Given the description of an element on the screen output the (x, y) to click on. 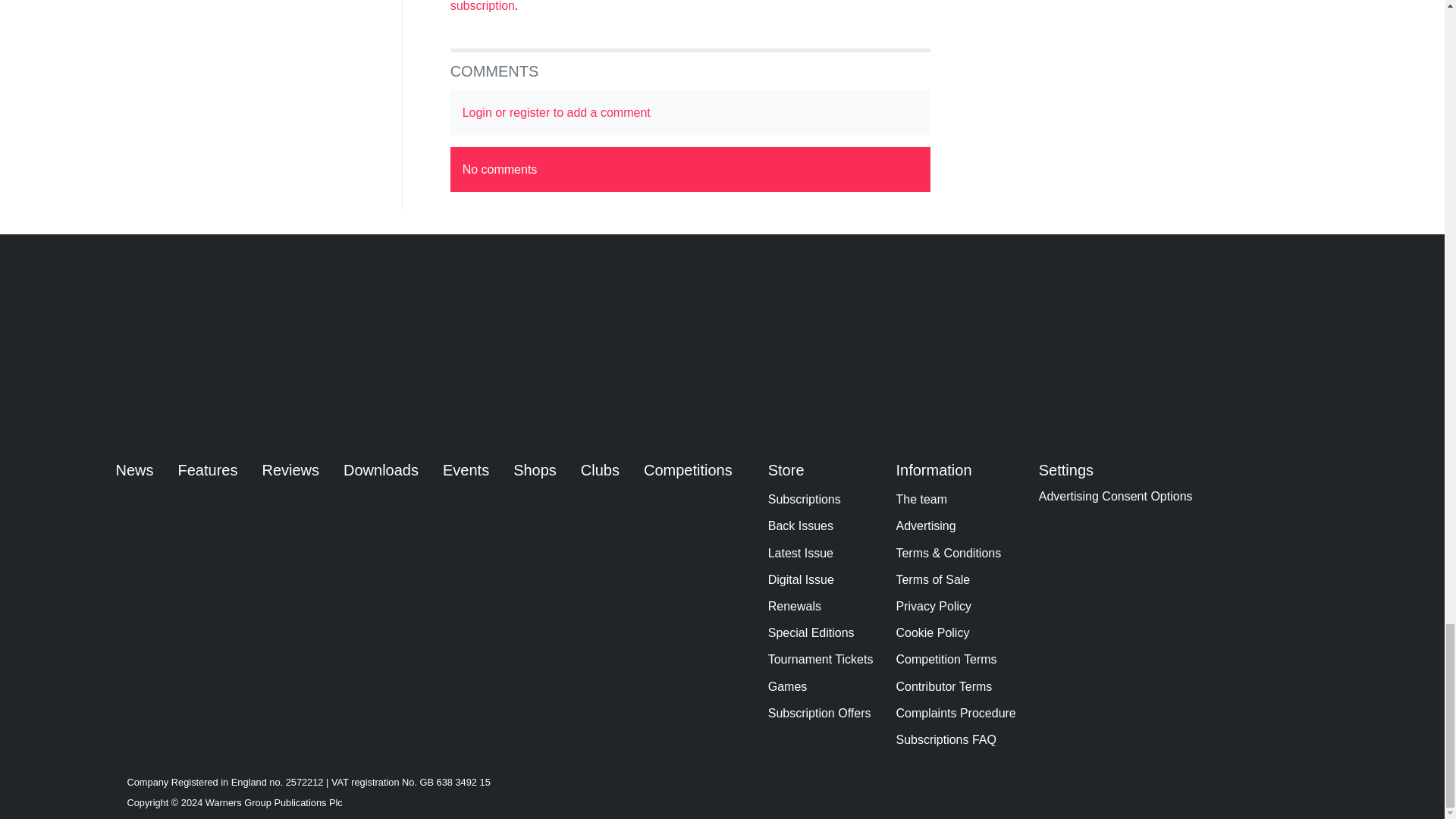
View your Advertising Consent options for this website (1115, 495)
